Given the description of an element on the screen output the (x, y) to click on. 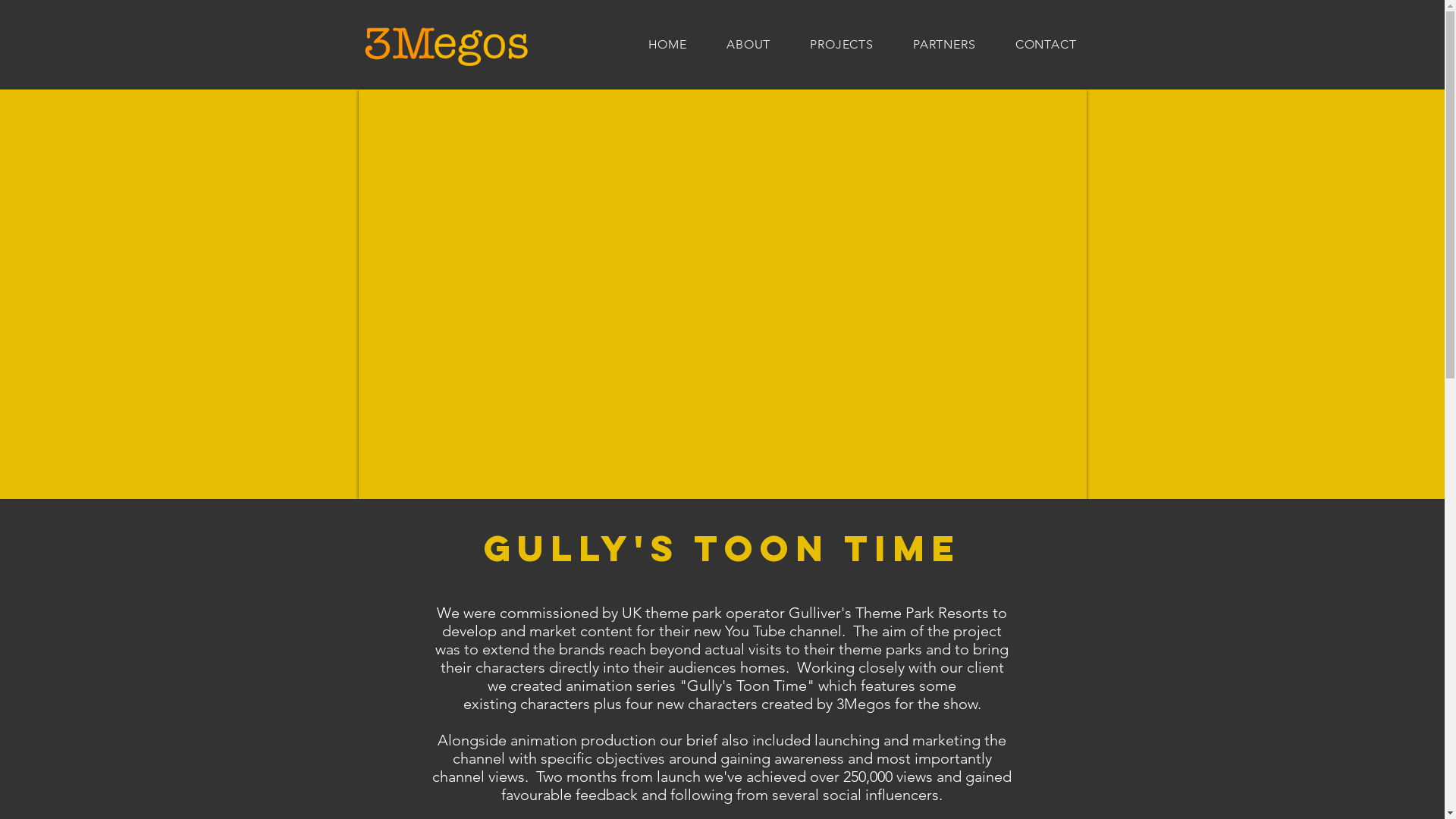
HOME Element type: text (666, 44)
CONTACT Element type: text (1045, 44)
PARTNERS Element type: text (944, 44)
ABOUT Element type: text (748, 44)
PROJECTS Element type: text (841, 44)
